Given the description of an element on the screen output the (x, y) to click on. 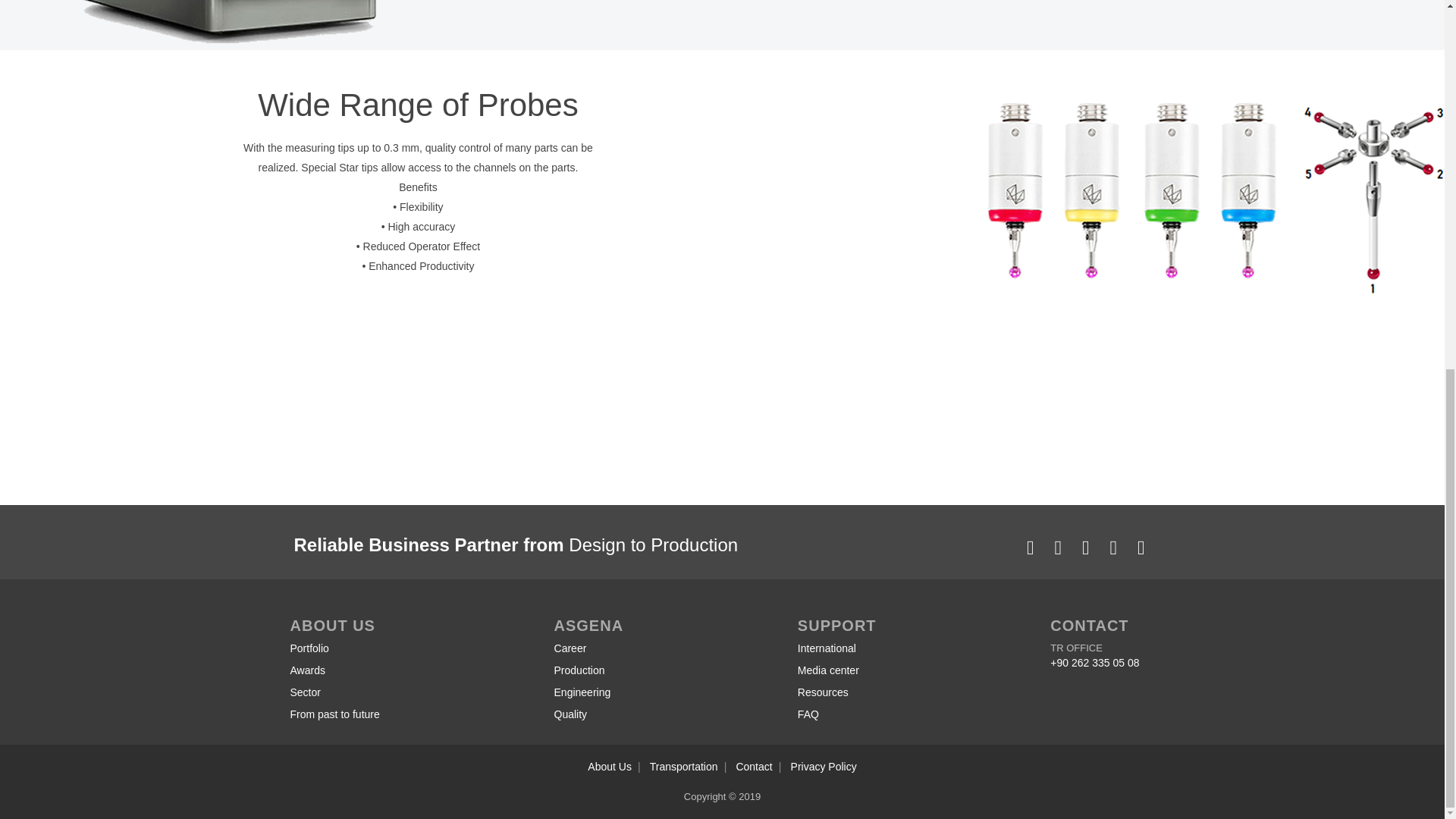
Awards (333, 670)
Portfolio (333, 648)
Sector (333, 693)
